Given the description of an element on the screen output the (x, y) to click on. 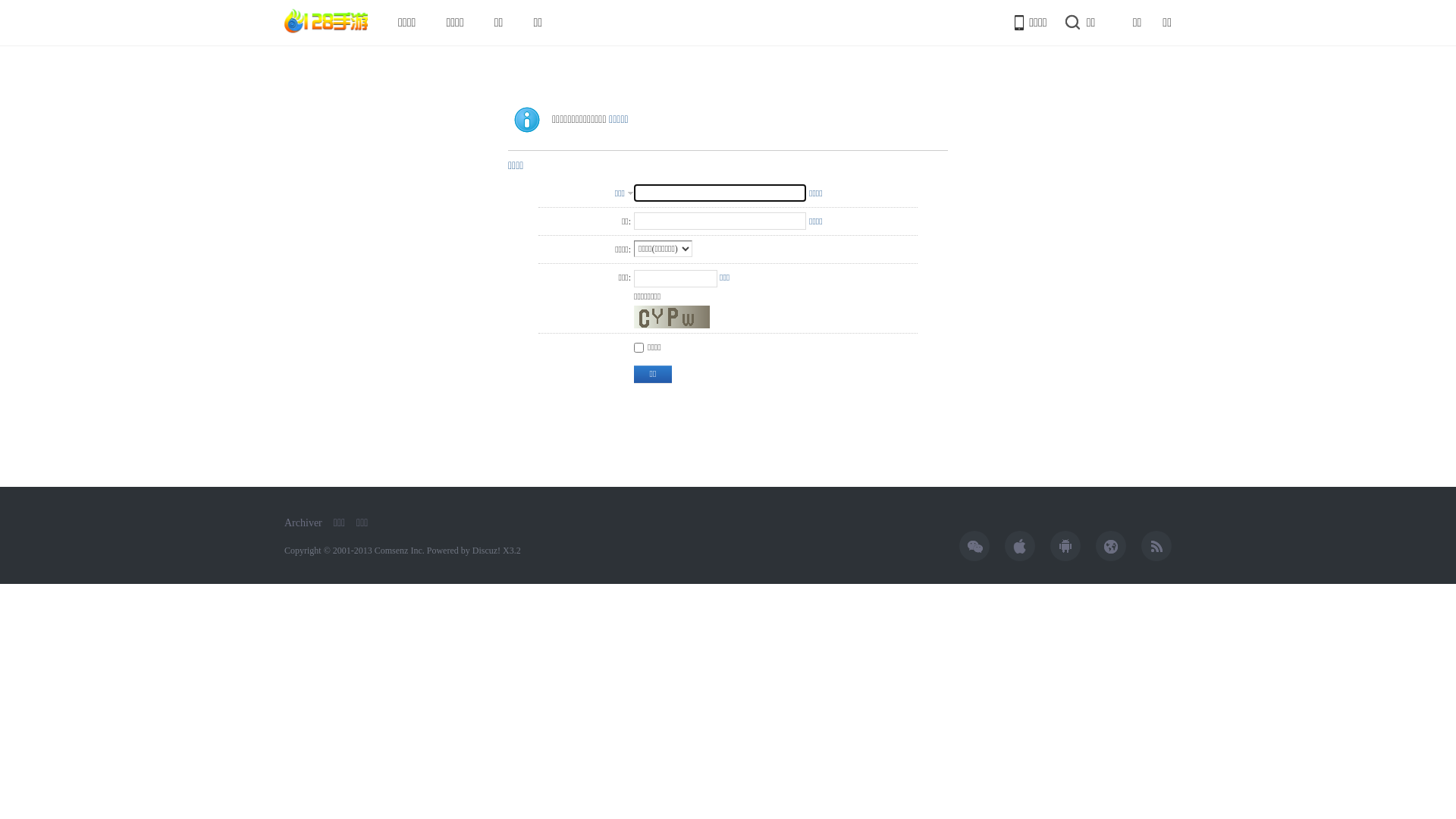
Comsenz Inc. Element type: text (400, 550)
Archiver Element type: text (303, 522)
Discuz! Element type: text (486, 550)
